Given the description of an element on the screen output the (x, y) to click on. 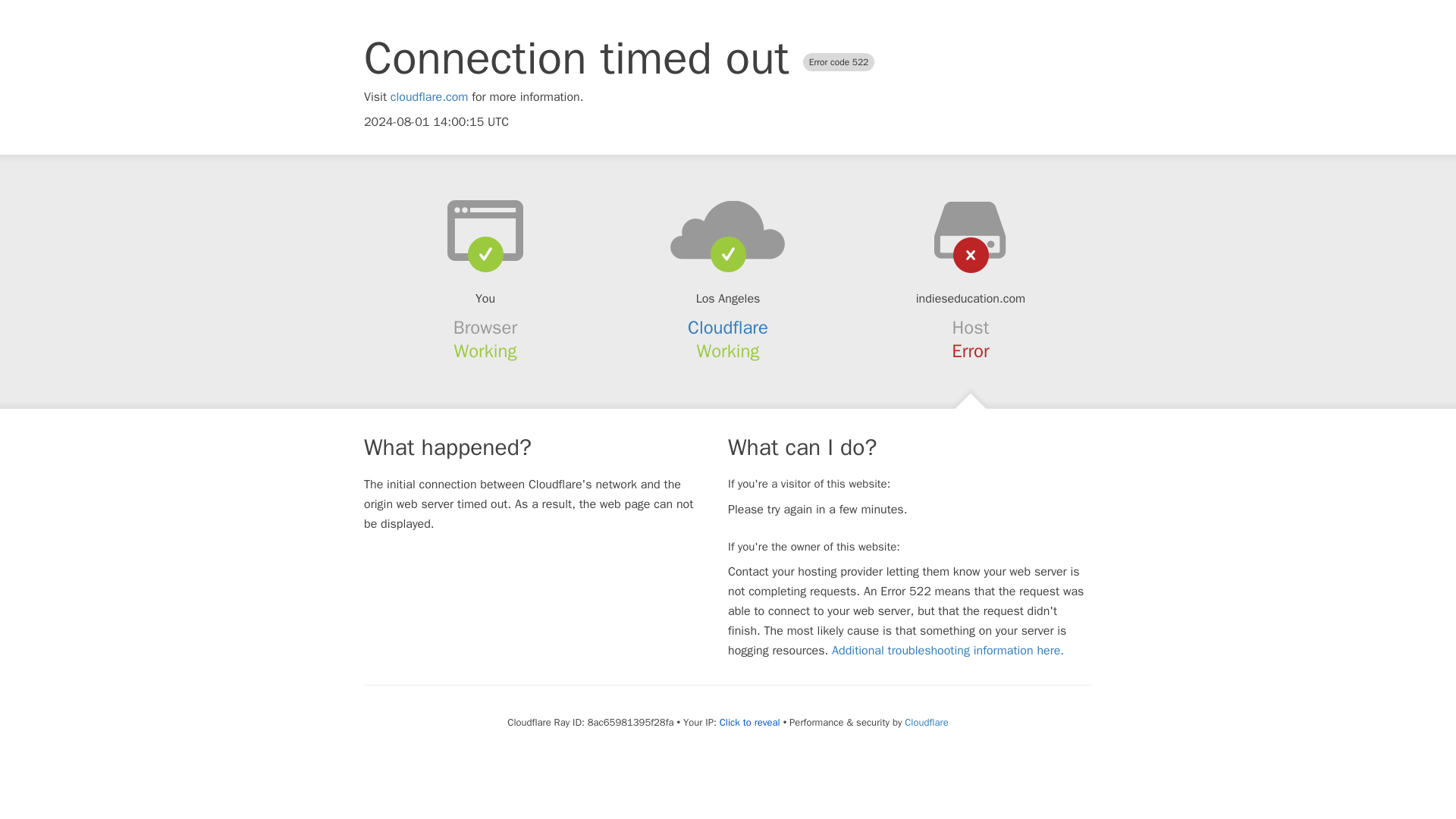
Cloudflare (727, 327)
Click to reveal (749, 722)
Cloudflare (925, 721)
Additional troubleshooting information here. (947, 650)
cloudflare.com (429, 96)
